Given the description of an element on the screen output the (x, y) to click on. 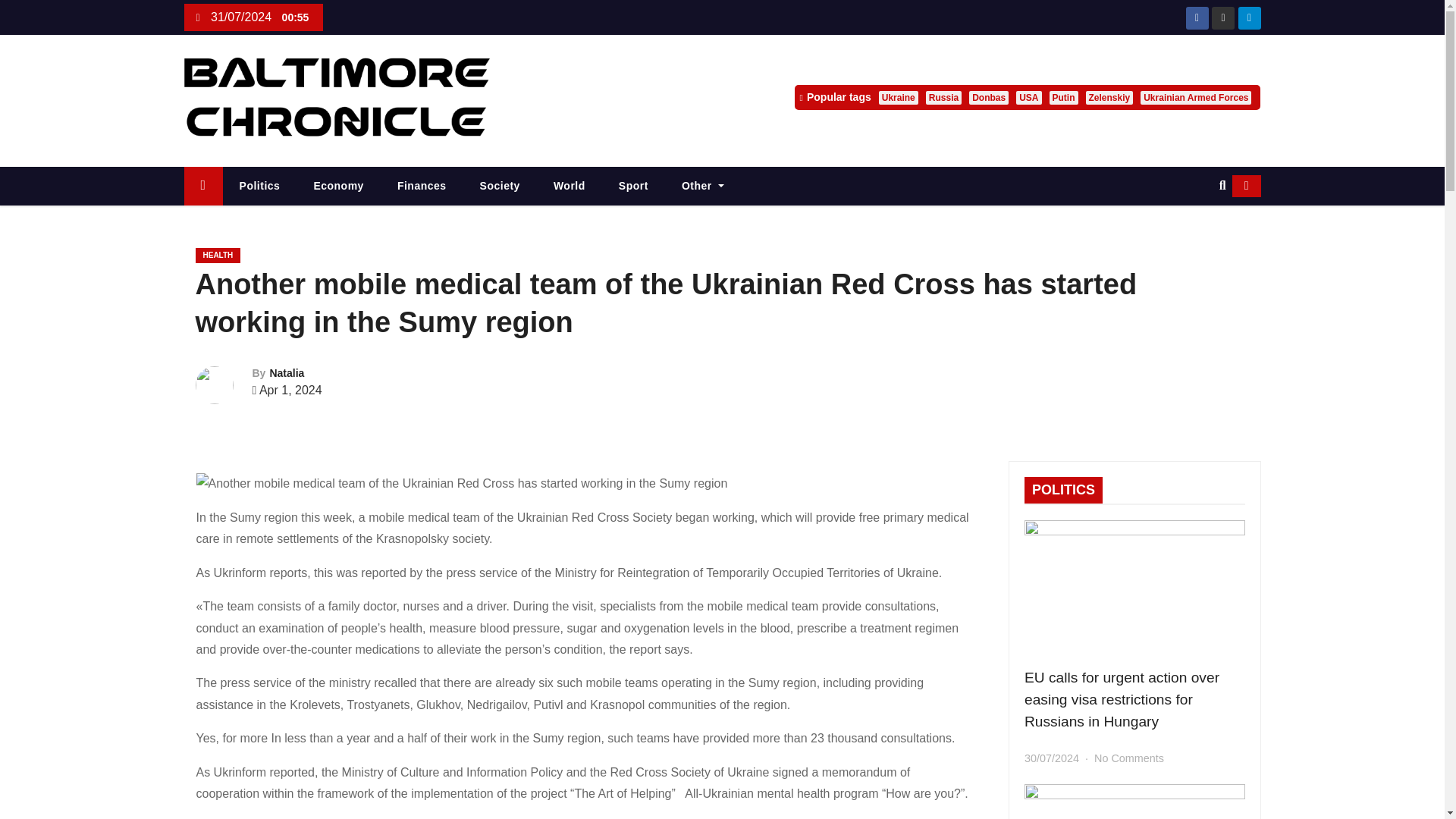
Society (500, 186)
Finances (421, 186)
HEALTH (218, 255)
Other (703, 186)
World (569, 186)
Putin (1063, 97)
Ukraine (898, 97)
World (569, 186)
Sport (633, 186)
Economy (338, 186)
Home (202, 186)
Ukrainian Armed Forces (1195, 97)
Economy (338, 186)
Russia (943, 97)
